Given the description of an element on the screen output the (x, y) to click on. 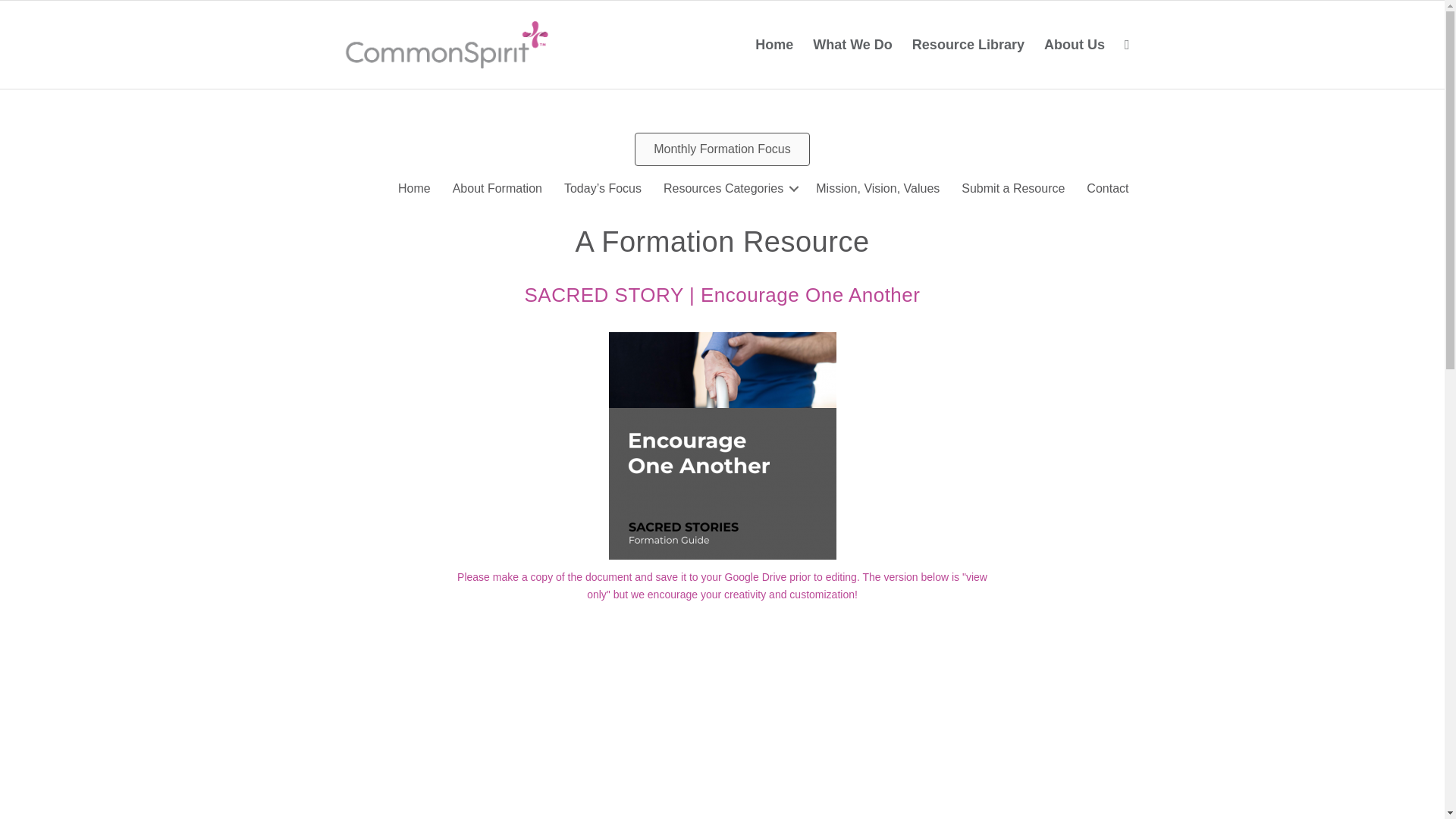
Monthly Formation Focus (721, 149)
Resource Library (967, 44)
CSH v3 (441, 44)
Resources Categories (728, 188)
About Us (1074, 44)
Encourage (721, 445)
Contact (1106, 188)
Submit a Resource (1012, 188)
What We Do (852, 44)
About Formation (497, 188)
